Given the description of an element on the screen output the (x, y) to click on. 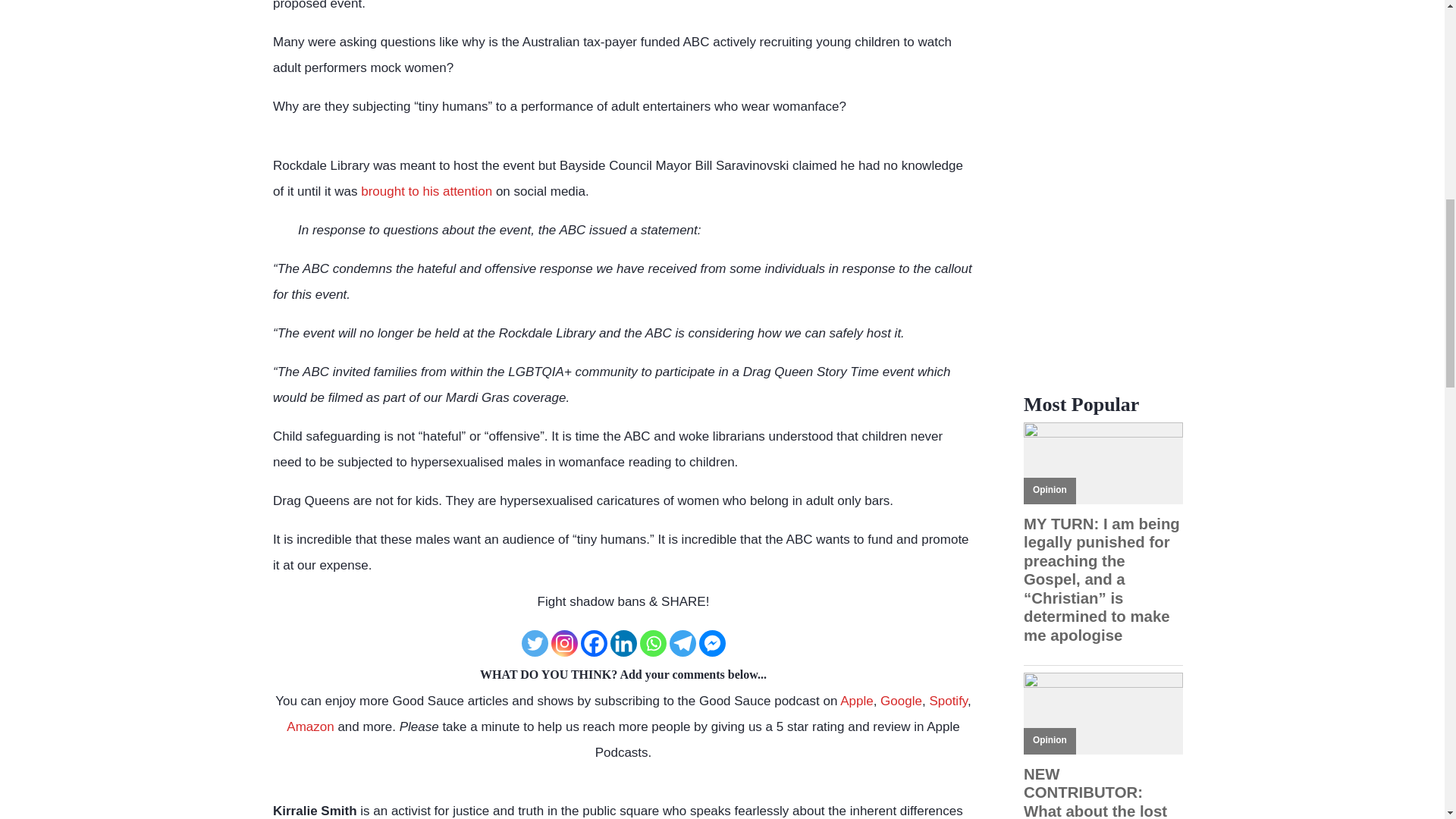
Facebook (593, 642)
Linkedin (623, 642)
Apple (856, 700)
Opinion (1049, 739)
Spotify (948, 700)
Amazon (309, 726)
Google (900, 700)
Opinion (1049, 489)
brought to his attention (426, 191)
Twitter (534, 642)
